Given the description of an element on the screen output the (x, y) to click on. 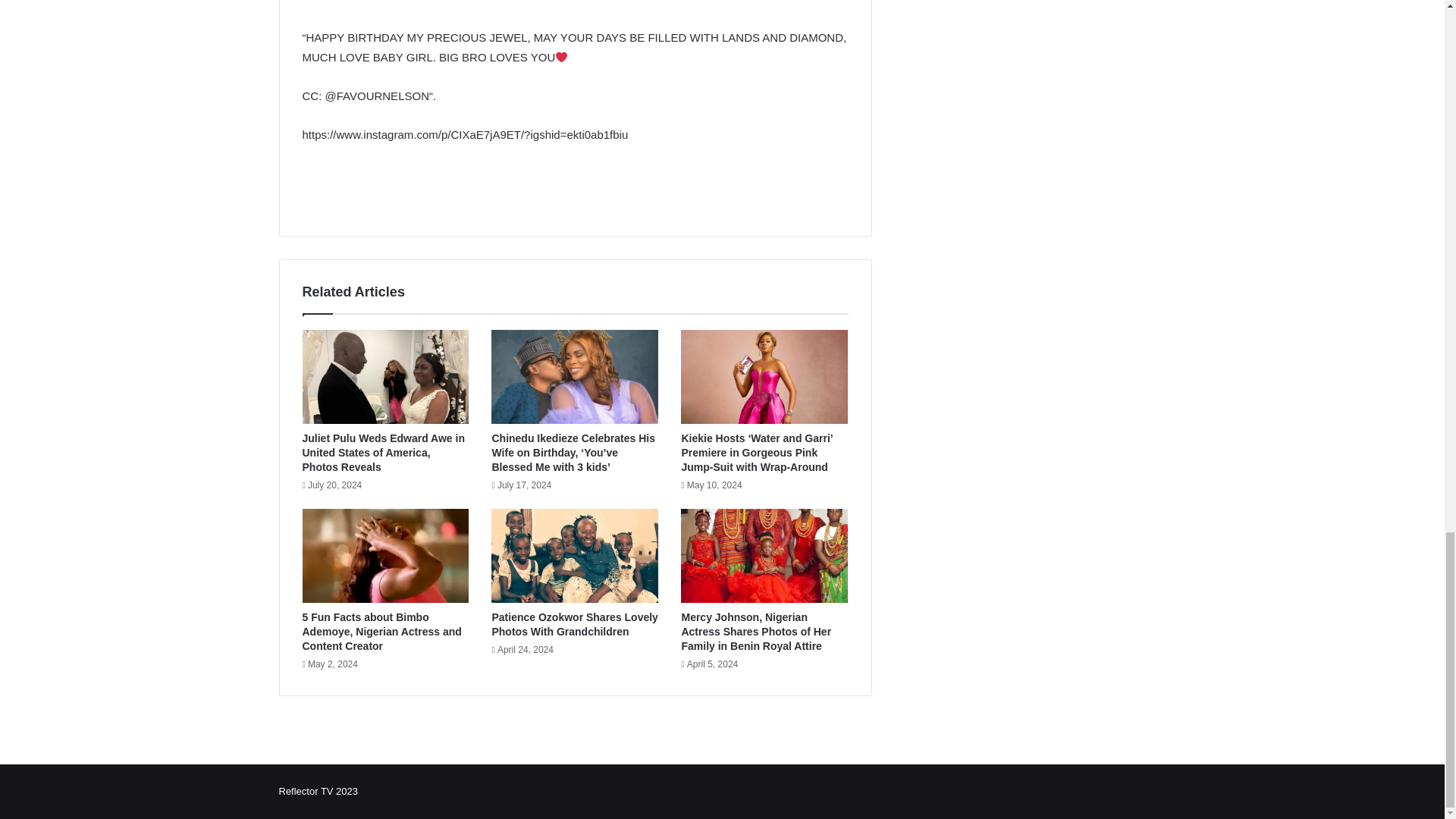
Patience Ozokwor Shares Lovely Photos With Grandchildren (575, 624)
